Given the description of an element on the screen output the (x, y) to click on. 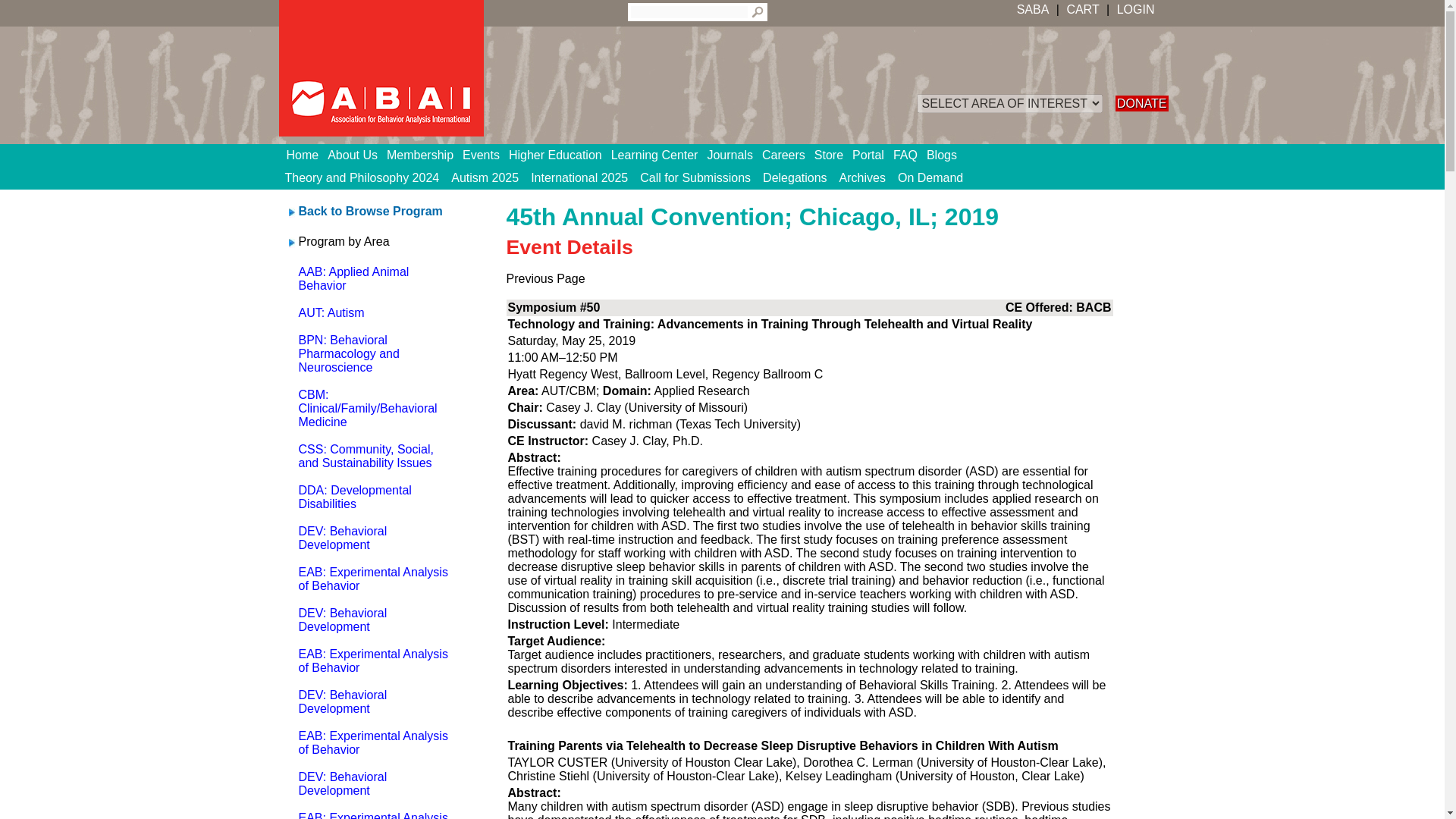
Delegations (794, 178)
Home (307, 155)
Learning Center (659, 155)
Blogs (946, 155)
Journals (733, 155)
Higher Education (559, 155)
Events (485, 155)
Call for Submissions (695, 178)
Autism 2025 (484, 178)
International 2025 (578, 178)
